Given the description of an element on the screen output the (x, y) to click on. 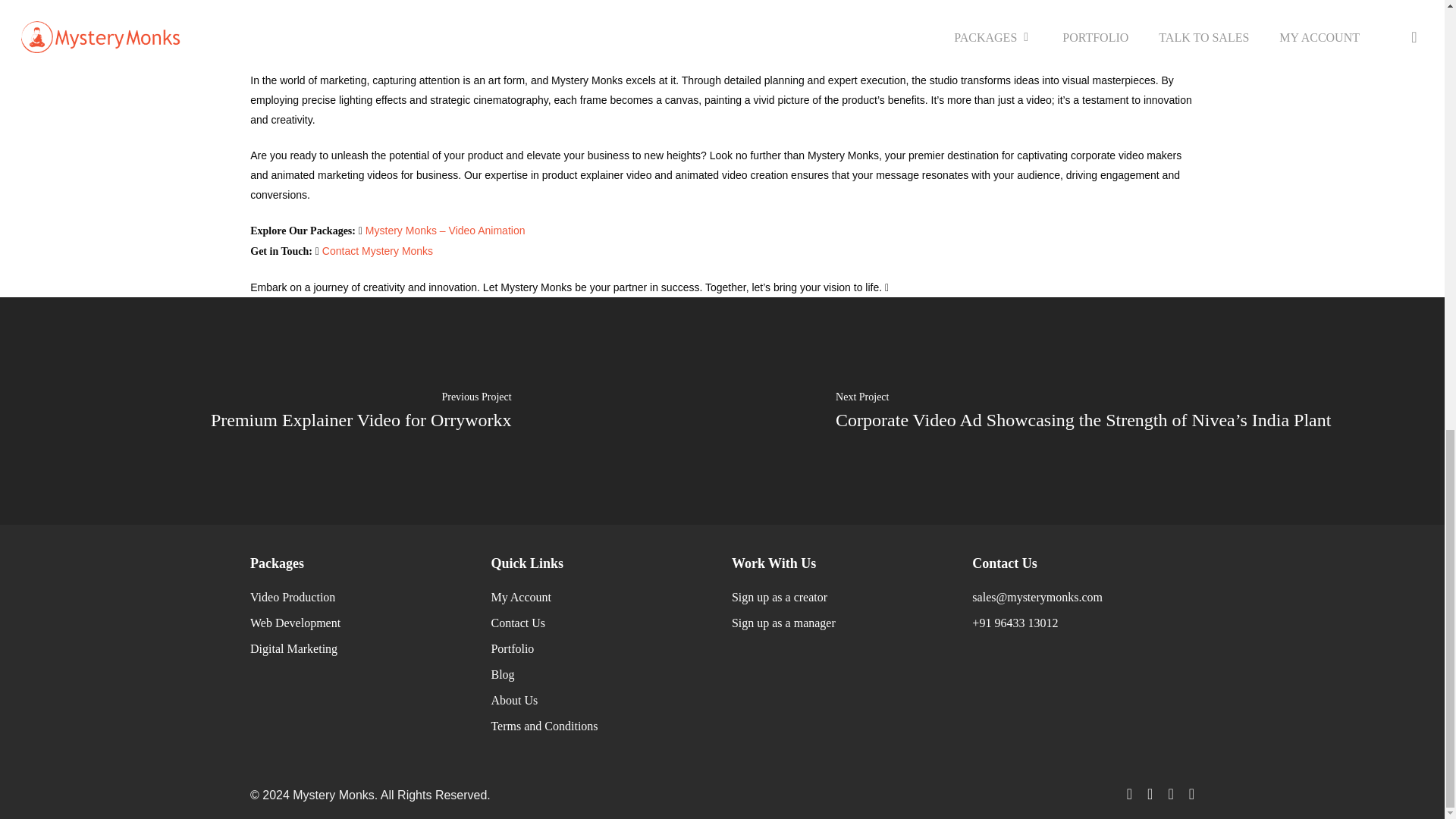
Contact Mystery Monks (376, 250)
Terms and Conditions (543, 725)
Web Development (295, 622)
My Account (520, 596)
Blog (501, 674)
Sign up as a creator (779, 596)
About Us (513, 699)
Contact Us (517, 622)
Sign up as a manager (783, 622)
Portfolio (512, 648)
Video Production (292, 596)
Digital Marketing (293, 648)
